Given the description of an element on the screen output the (x, y) to click on. 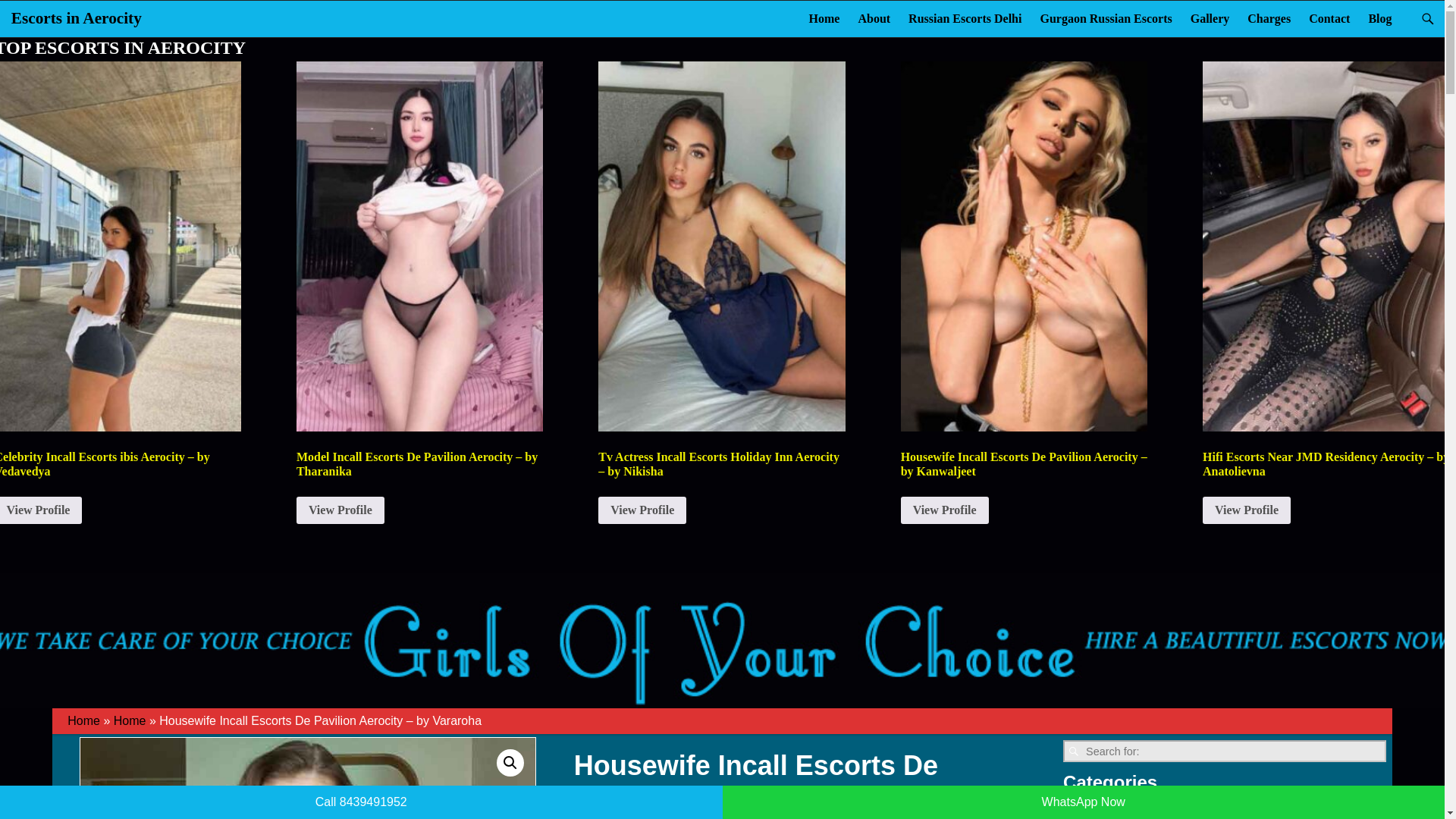
Escorts in Aerocity (76, 18)
Home (83, 720)
View Profile (944, 510)
Gurgaon Russian Escorts (1105, 17)
Charges (1269, 17)
Gallery (1209, 17)
Home (823, 17)
Contact (1329, 17)
About (873, 17)
View Profile (340, 510)
View Profile (641, 510)
Blog (1379, 17)
vararoha (307, 778)
Home (130, 720)
View Profile (1246, 510)
